Given the description of an element on the screen output the (x, y) to click on. 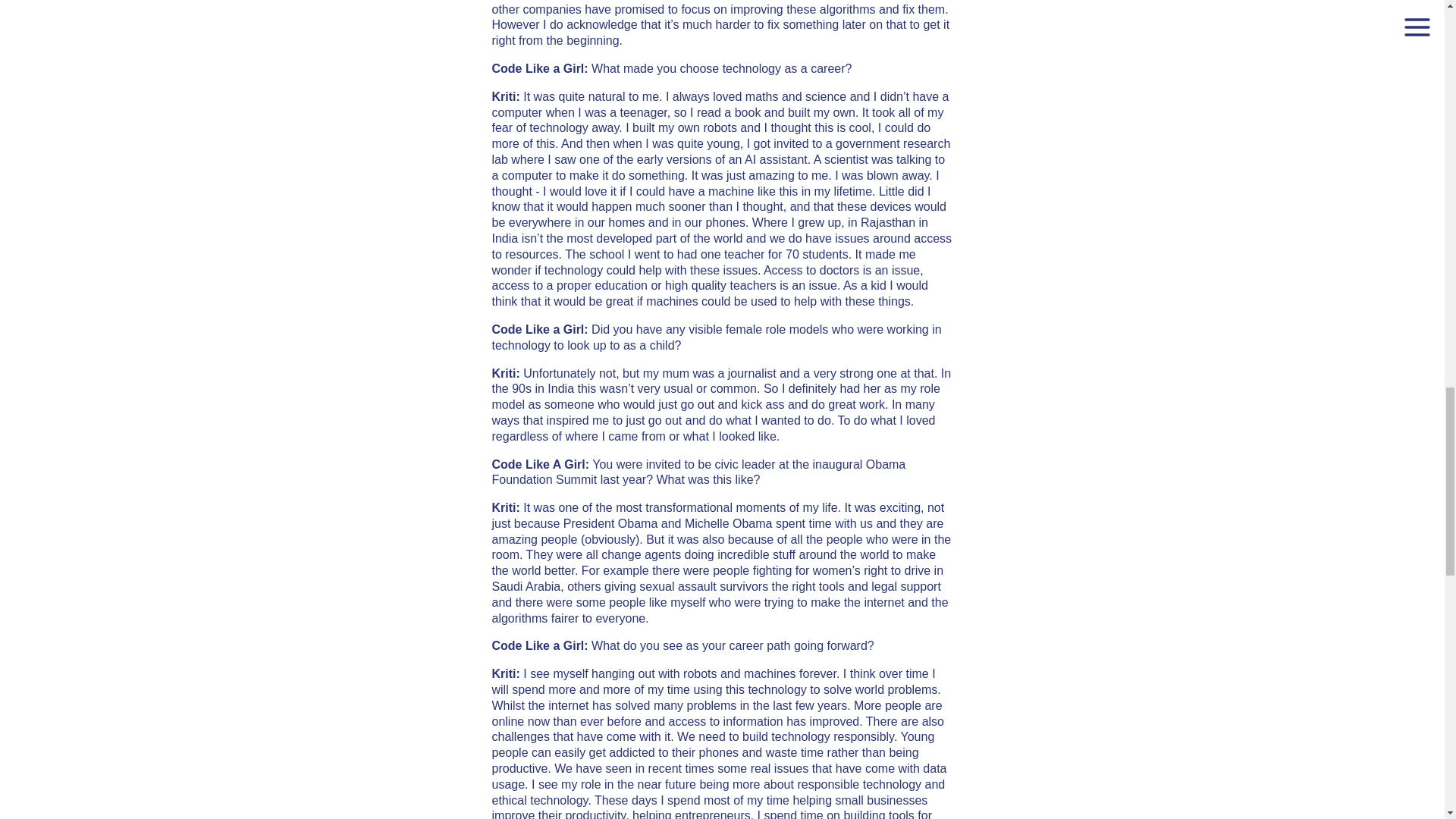
PARTNER WITH US (722, 6)
CONTACT (721, 130)
ABOUT (721, 51)
IMPACT (721, 90)
JOURNAL (721, 169)
